Given the description of an element on the screen output the (x, y) to click on. 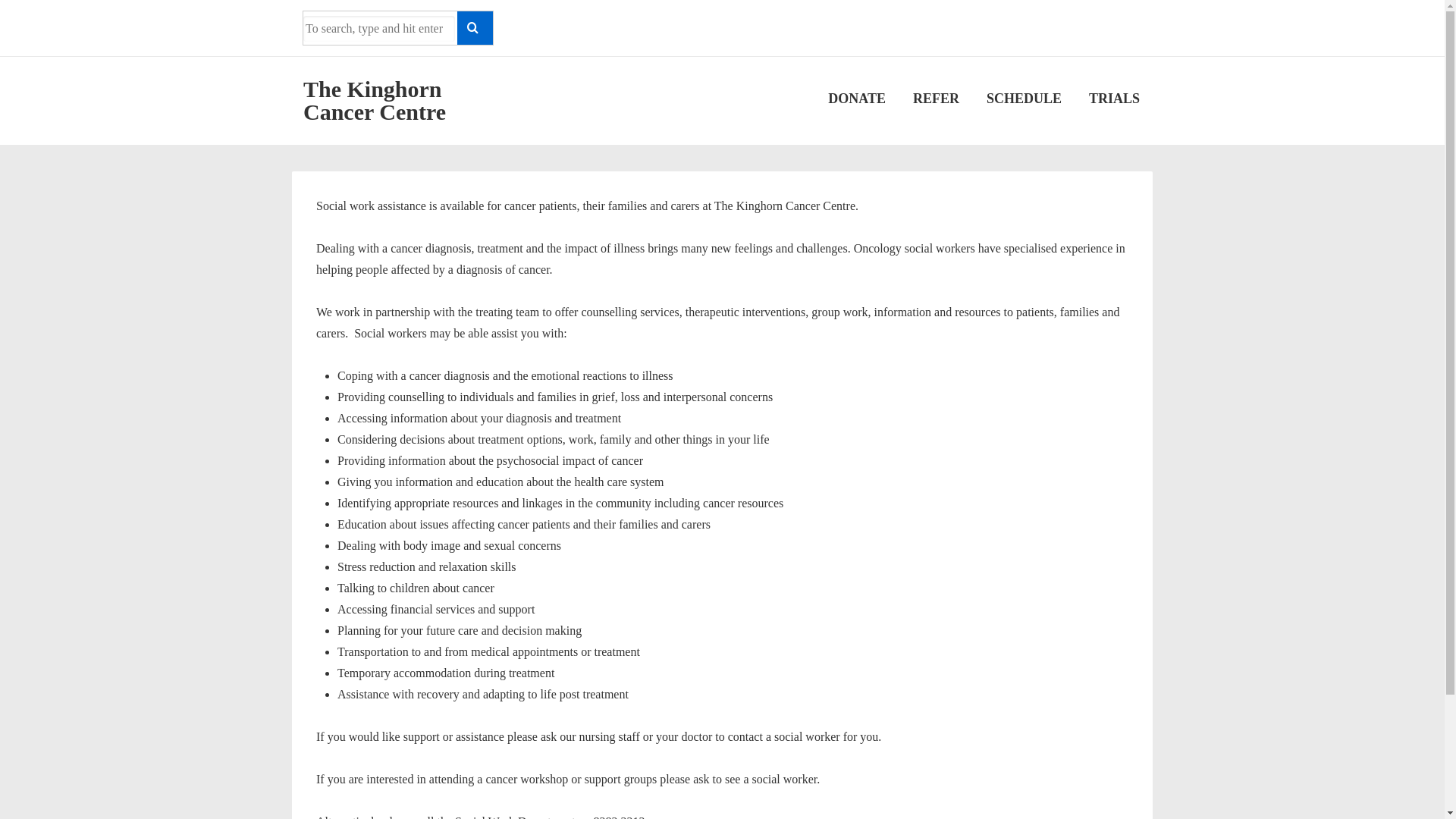
SCHEDULE Element type: text (1023, 99)
Search Element type: text (474, 27)
The Kinghorn Cancer Centre Element type: text (374, 100)
TRIALS Element type: text (1114, 99)
REFER Element type: text (935, 99)
DONATE Element type: text (856, 99)
